Given the description of an element on the screen output the (x, y) to click on. 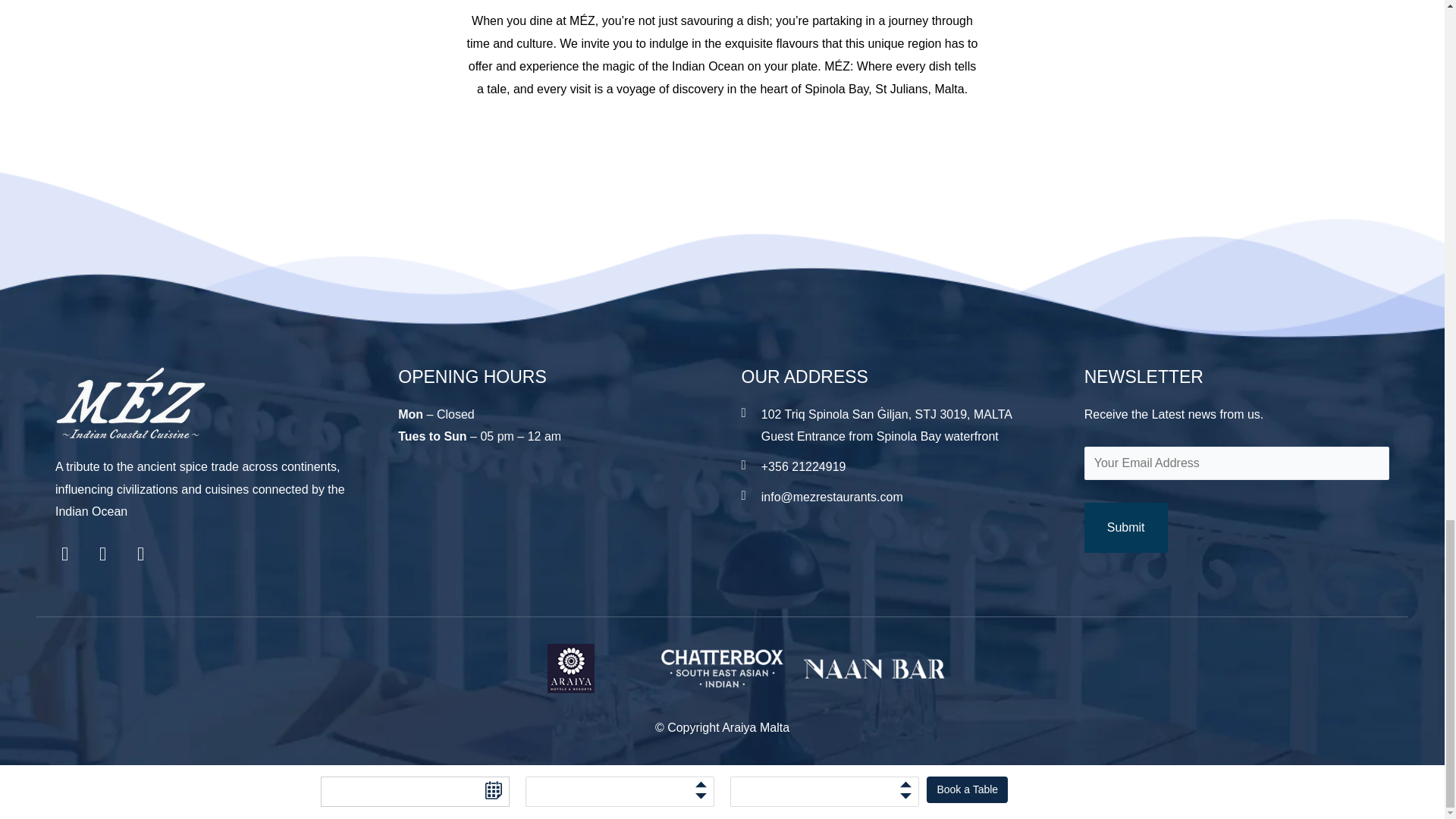
Submit (1125, 527)
Tripadvisor (149, 563)
Facebook (74, 563)
Submit (1125, 527)
Instagram (112, 563)
